Given the description of an element on the screen output the (x, y) to click on. 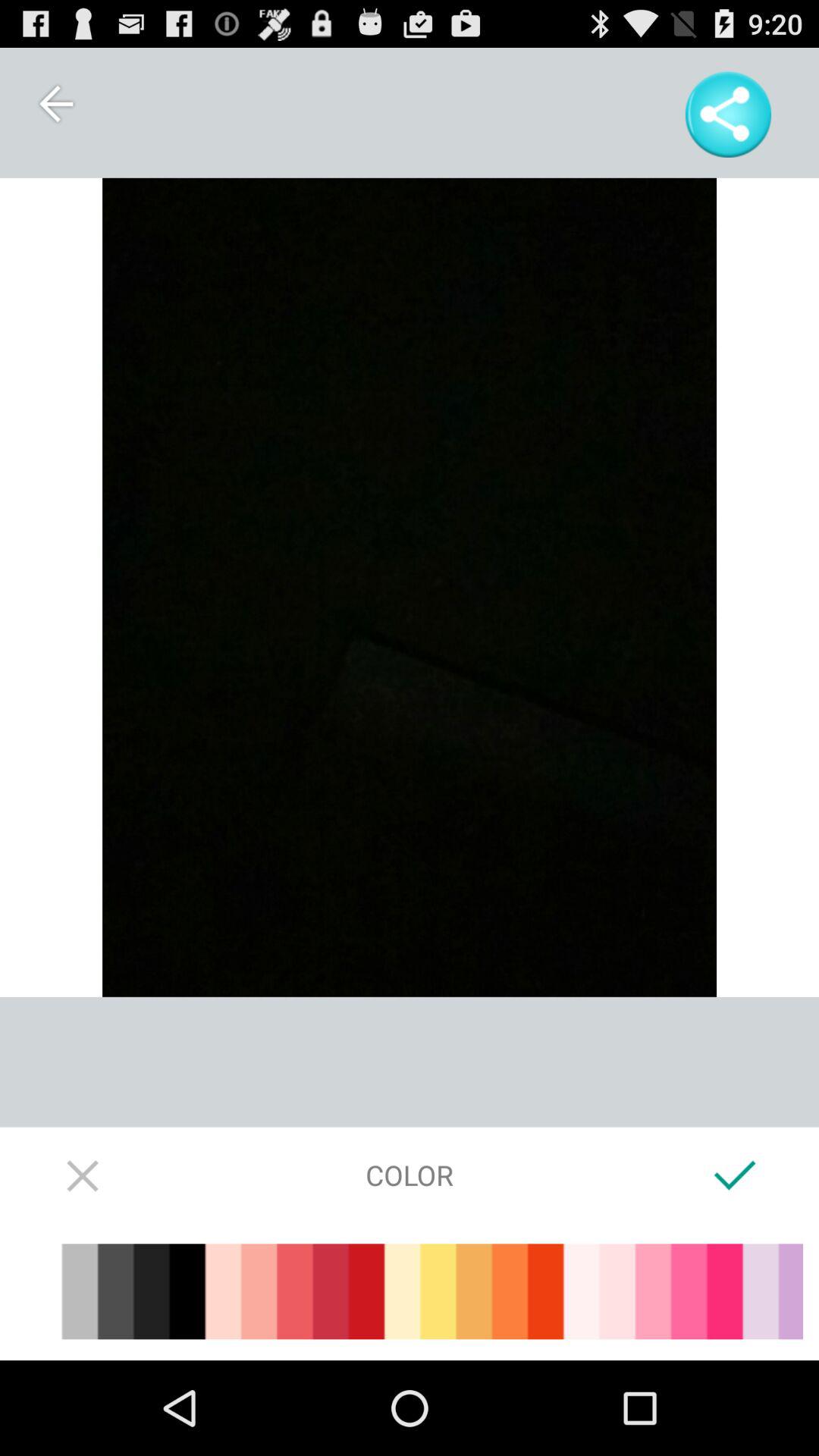
select item at the top left corner (55, 103)
